Given the description of an element on the screen output the (x, y) to click on. 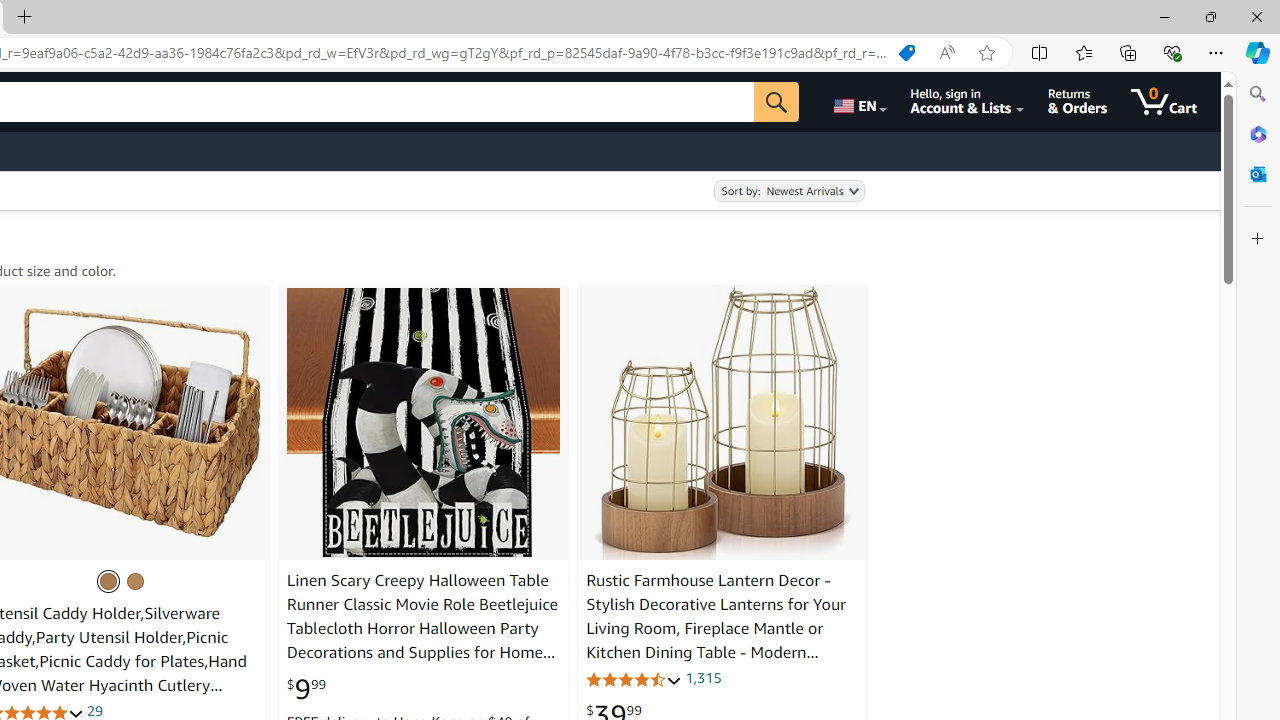
1,315 (702, 678)
29 (94, 710)
Natural (135, 580)
Hello, sign in Account & Lists (967, 101)
Returns & Orders (1077, 101)
Go (776, 101)
0 items in cart (1163, 101)
